Given the description of an element on the screen output the (x, y) to click on. 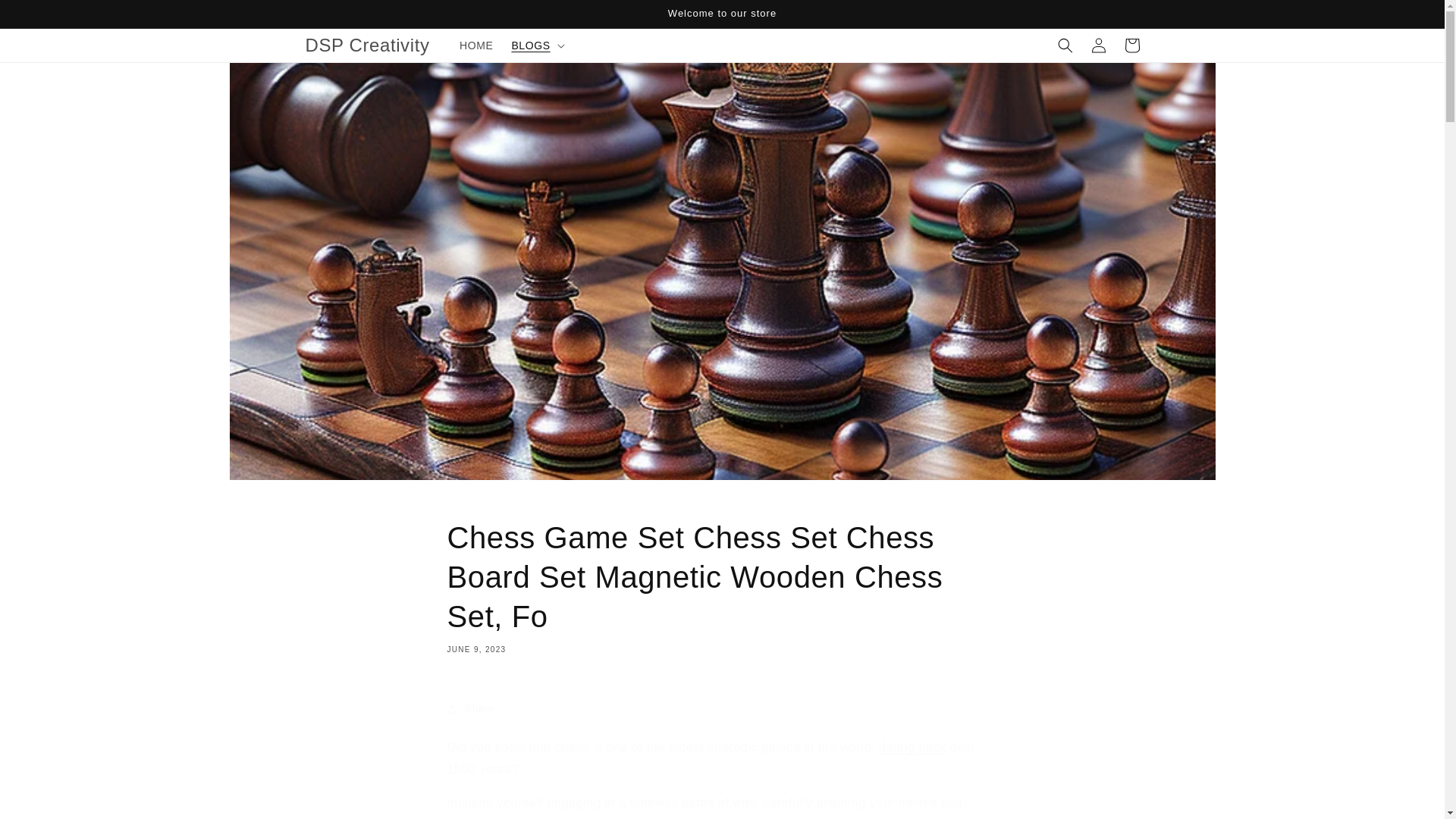
DSP Creativity (367, 44)
Skip to content (45, 17)
HOME (475, 45)
dating back (911, 747)
Share (721, 708)
Log in (1098, 45)
dating back (911, 747)
Cart (1131, 45)
